Given the description of an element on the screen output the (x, y) to click on. 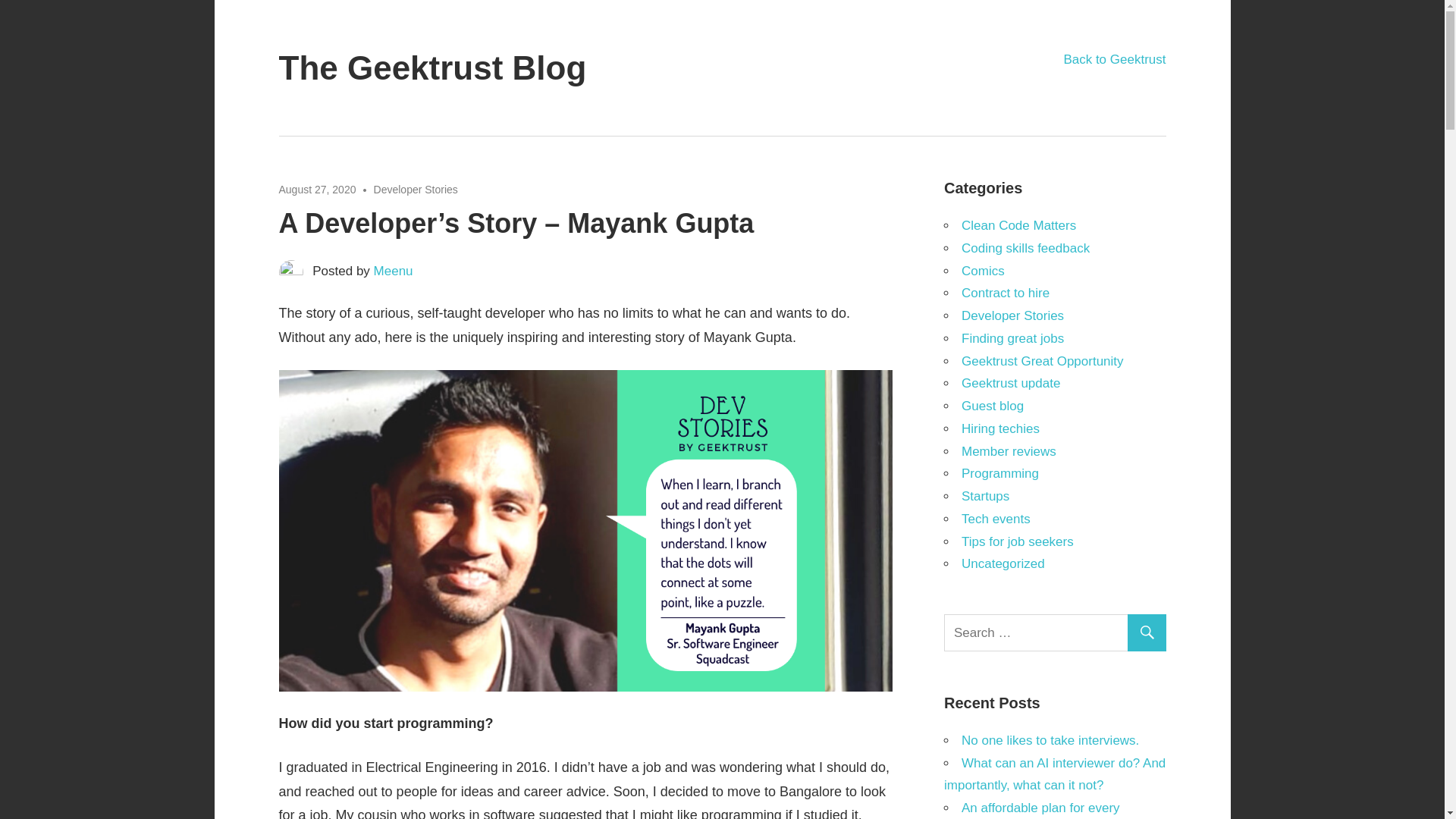
View all posts by Meenu (393, 270)
Contract to hire (1004, 292)
Geektrust update (1009, 382)
Search for: (1057, 632)
Guest blog (991, 405)
Back to Geektrust (1114, 59)
Tips for job seekers (1017, 540)
Geektrust Great Opportunity (1042, 359)
Clean Code Matters (1017, 225)
Developer Stories (416, 189)
Developer Stories (1012, 315)
Uncategorized (1002, 563)
August 27, 2020 (317, 189)
The Geektrust Blog (432, 67)
